Given the description of an element on the screen output the (x, y) to click on. 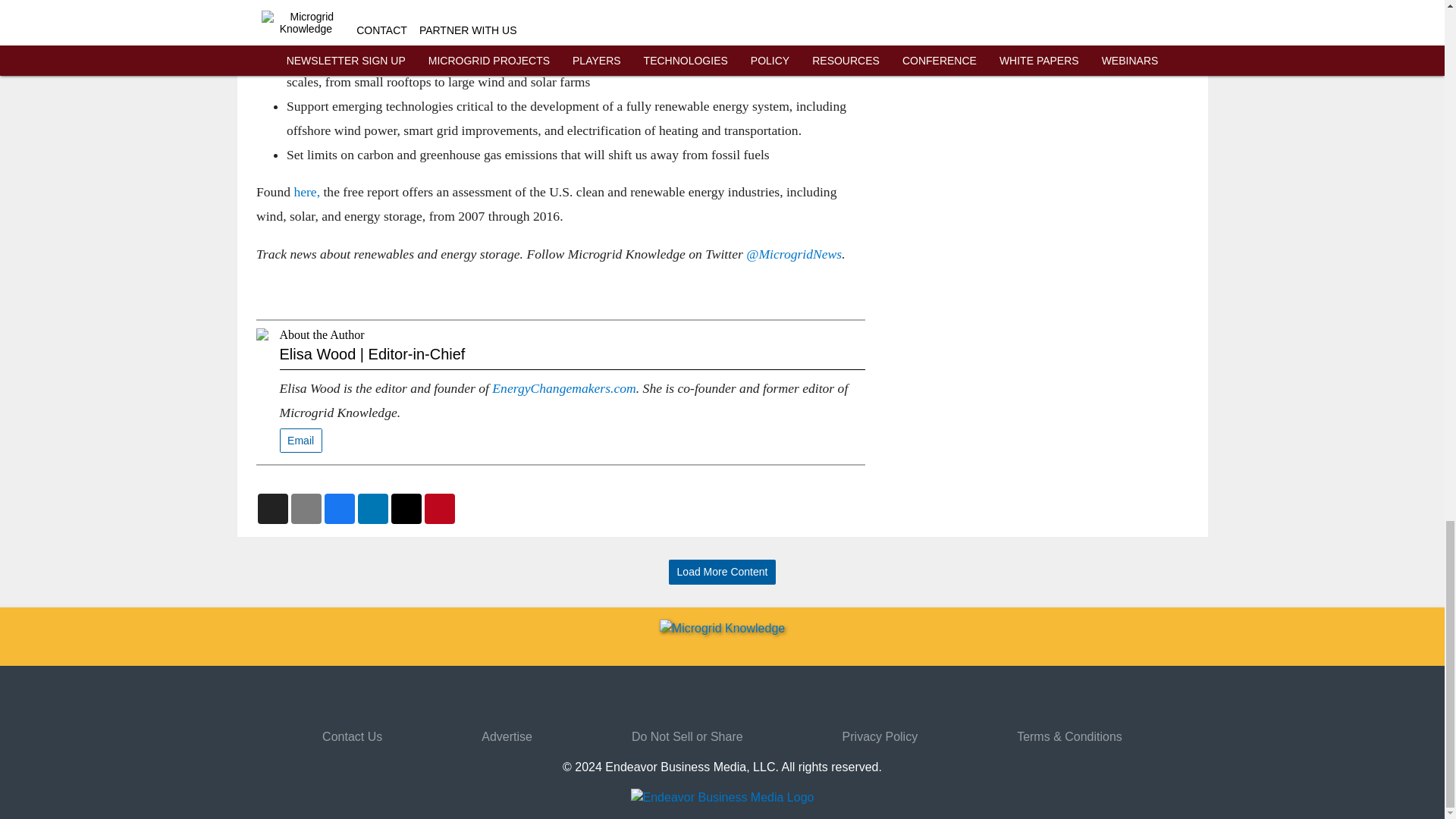
here, (307, 191)
Email (300, 440)
EnergyChangemakers.com (563, 387)
